Given the description of an element on the screen output the (x, y) to click on. 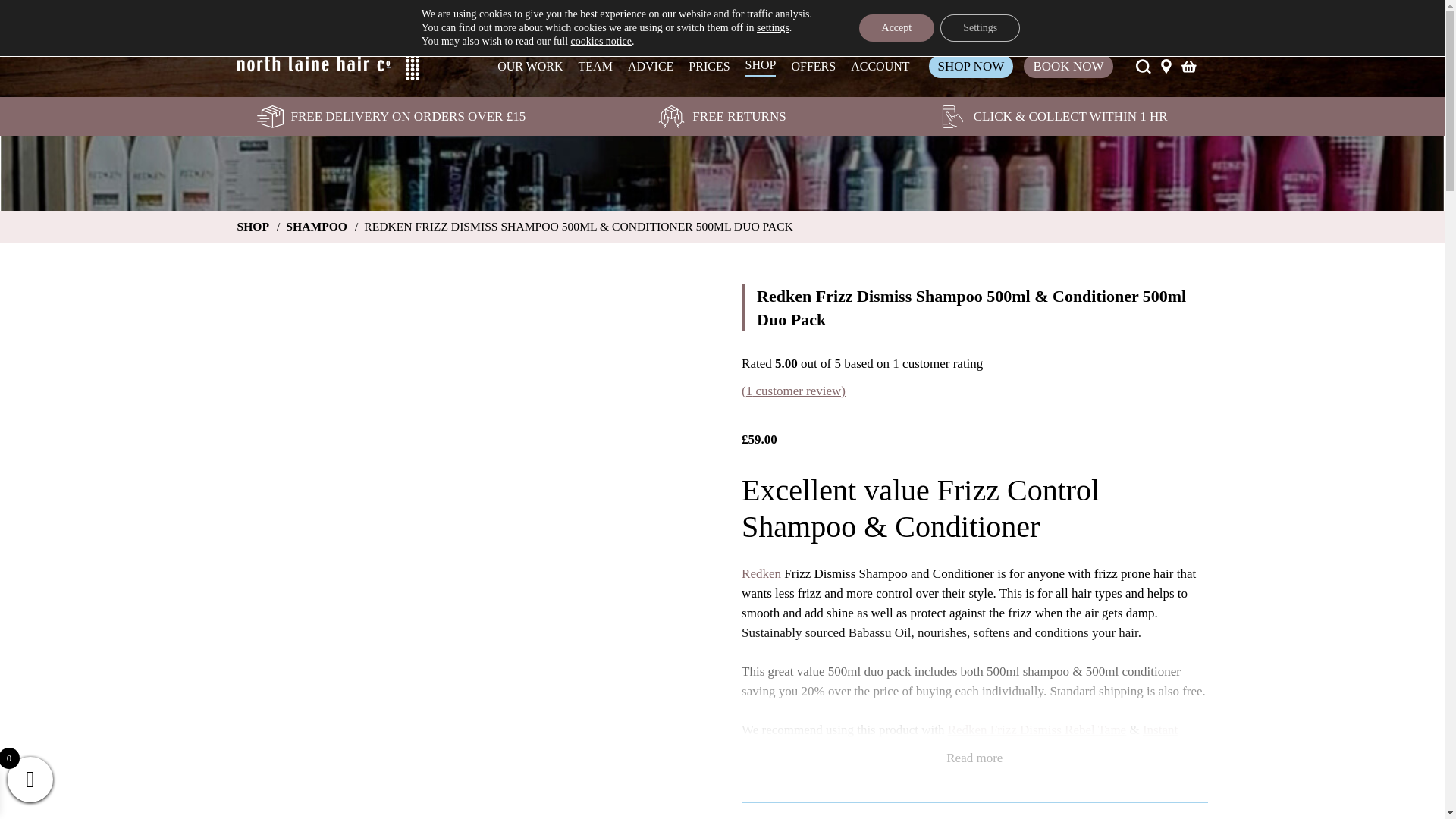
ADVICE (649, 66)
OFFERS (812, 66)
OUR WORK (529, 66)
SHOP (760, 65)
TEAM (595, 66)
ACCOUNT (879, 66)
PRICES (708, 66)
